Given the description of an element on the screen output the (x, y) to click on. 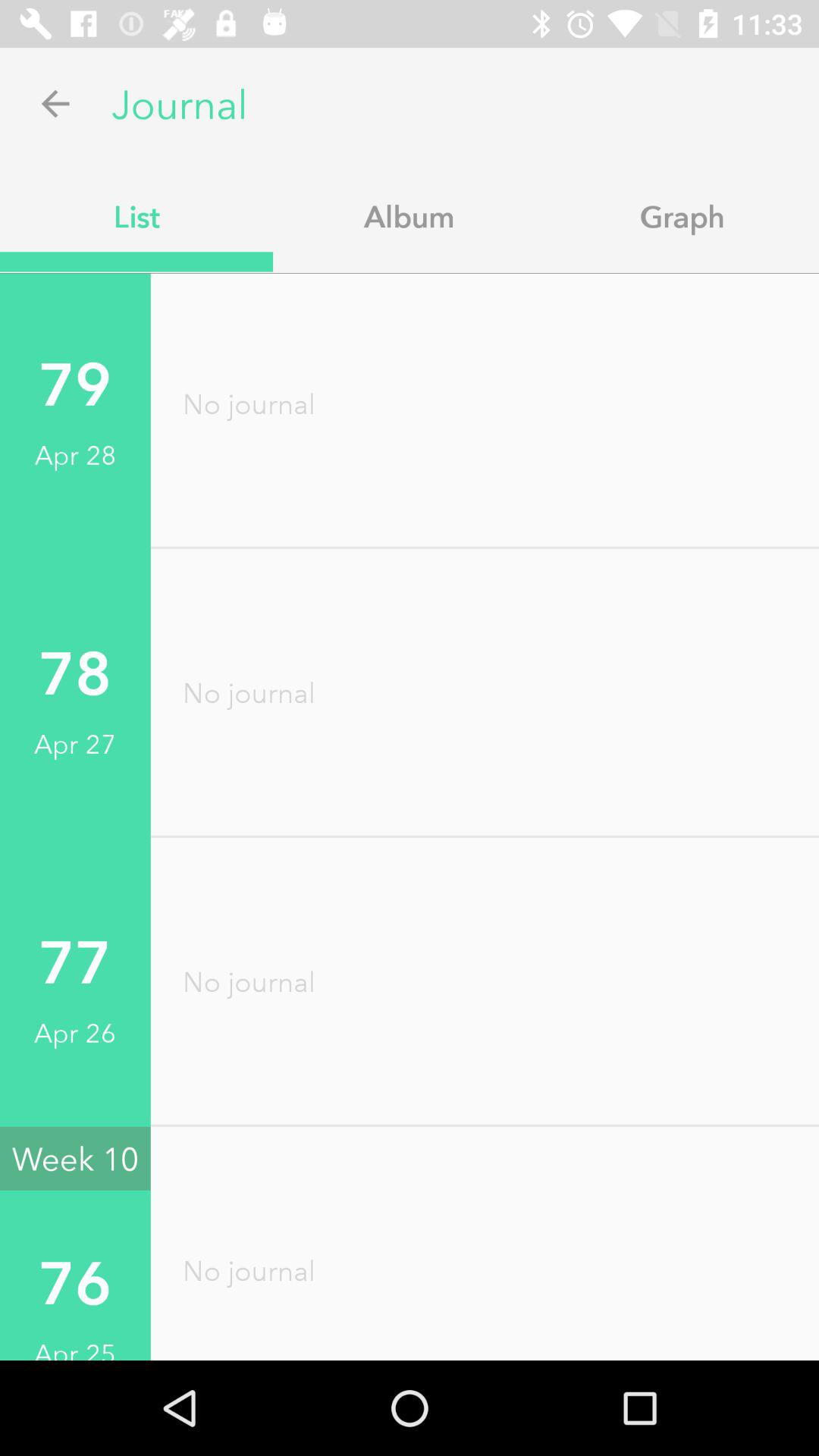
tap the album (409, 216)
